Given the description of an element on the screen output the (x, y) to click on. 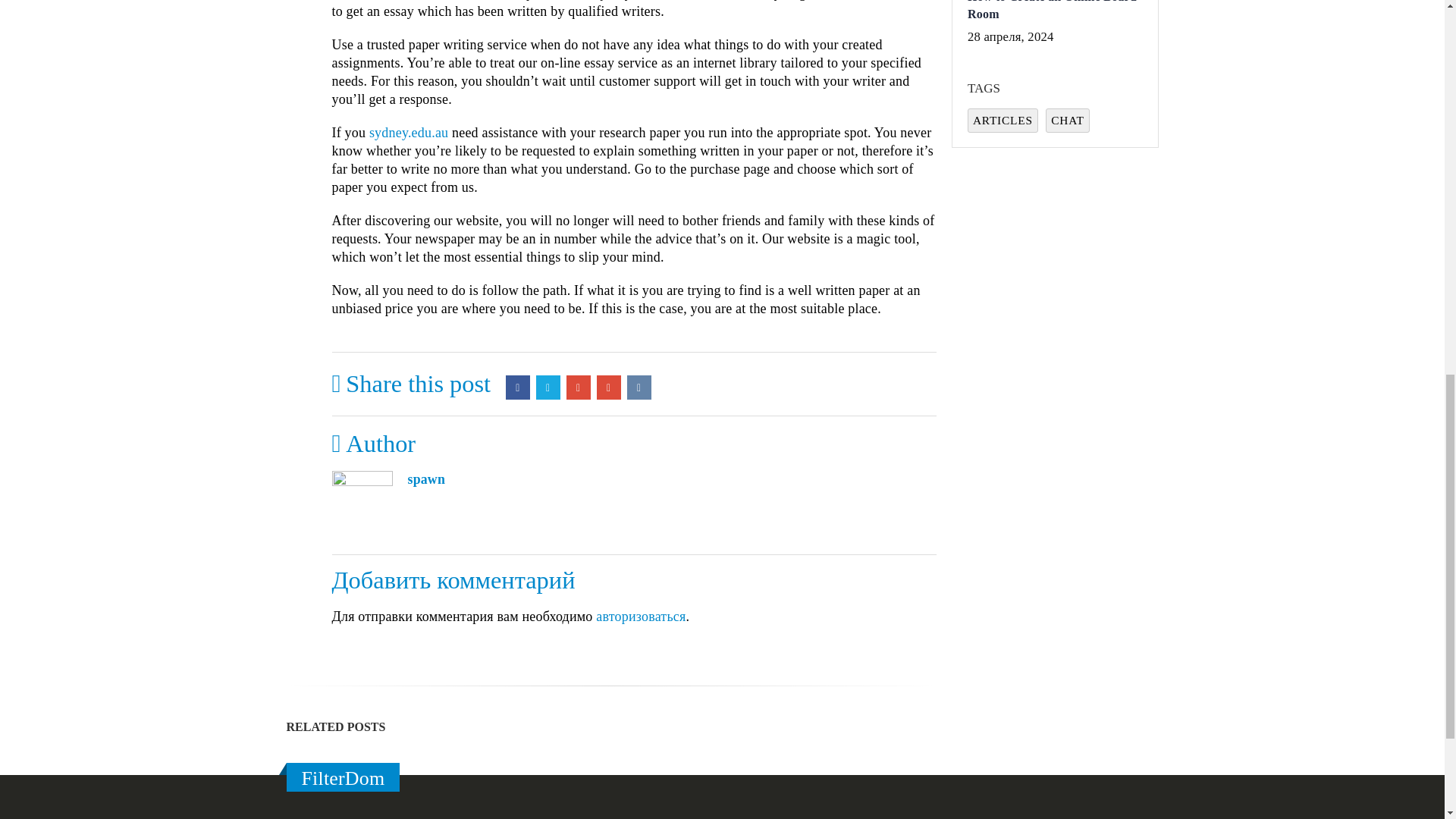
VK (638, 340)
VK (638, 340)
sydney.edu.au (408, 87)
Facebook (517, 340)
Twitter (547, 340)
Email (608, 340)
spawn (426, 433)
Twitter (547, 340)
Email (608, 340)
Facebook (517, 340)
